Given the description of an element on the screen output the (x, y) to click on. 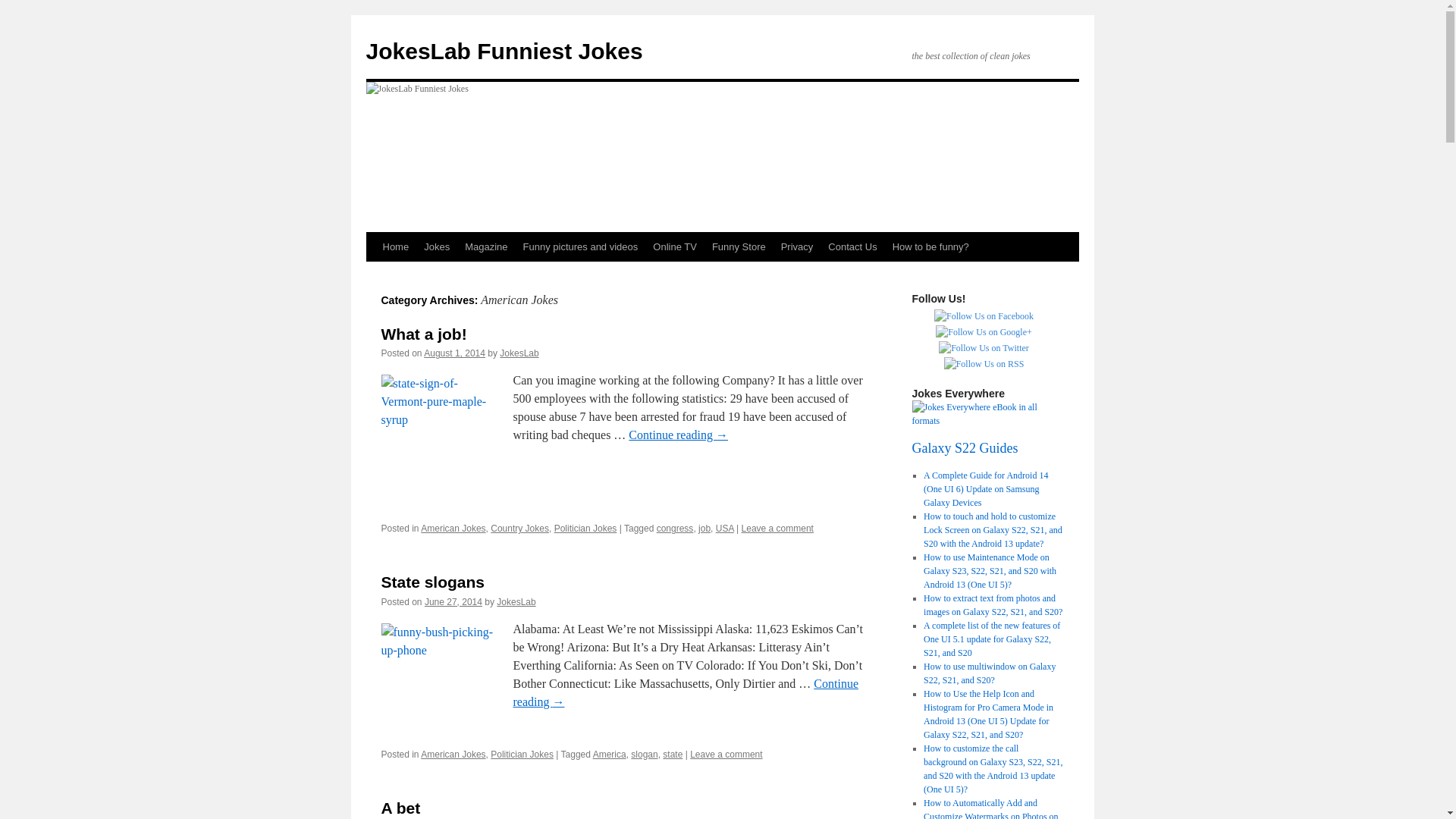
JokesLab (518, 353)
USA (724, 528)
What a job! (422, 334)
June 27, 2014 (453, 602)
Funny Store (738, 246)
American Jokes (452, 754)
JokesLab (515, 602)
State slogans (432, 581)
Funny pictures and videos (580, 246)
August 1, 2014 (453, 353)
